Given the description of an element on the screen output the (x, y) to click on. 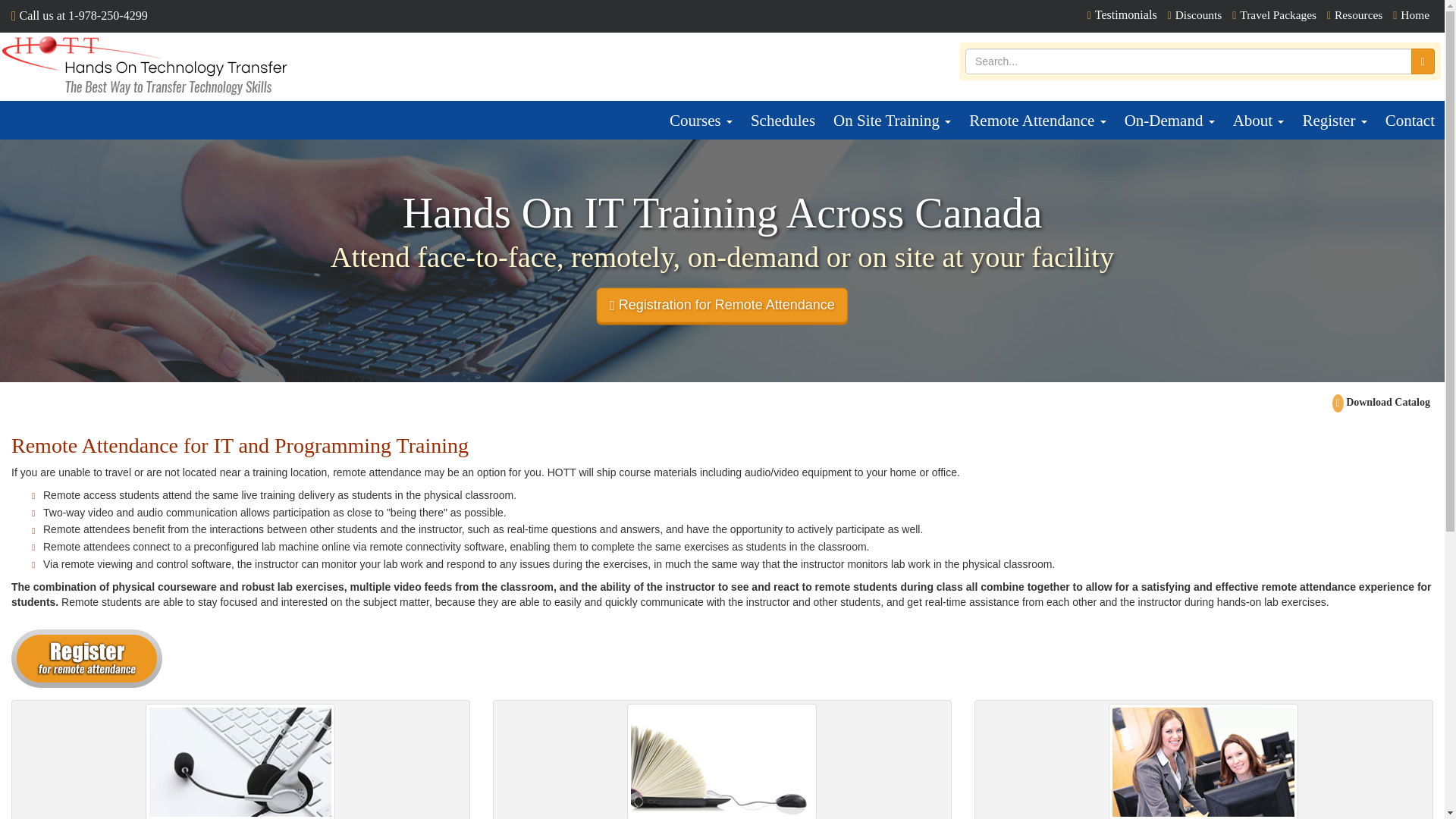
Courses (701, 120)
Home (1411, 14)
Travel Packages (1273, 14)
Resources (1353, 14)
Testimonials (1122, 14)
Discounts (1195, 14)
